Given the description of an element on the screen output the (x, y) to click on. 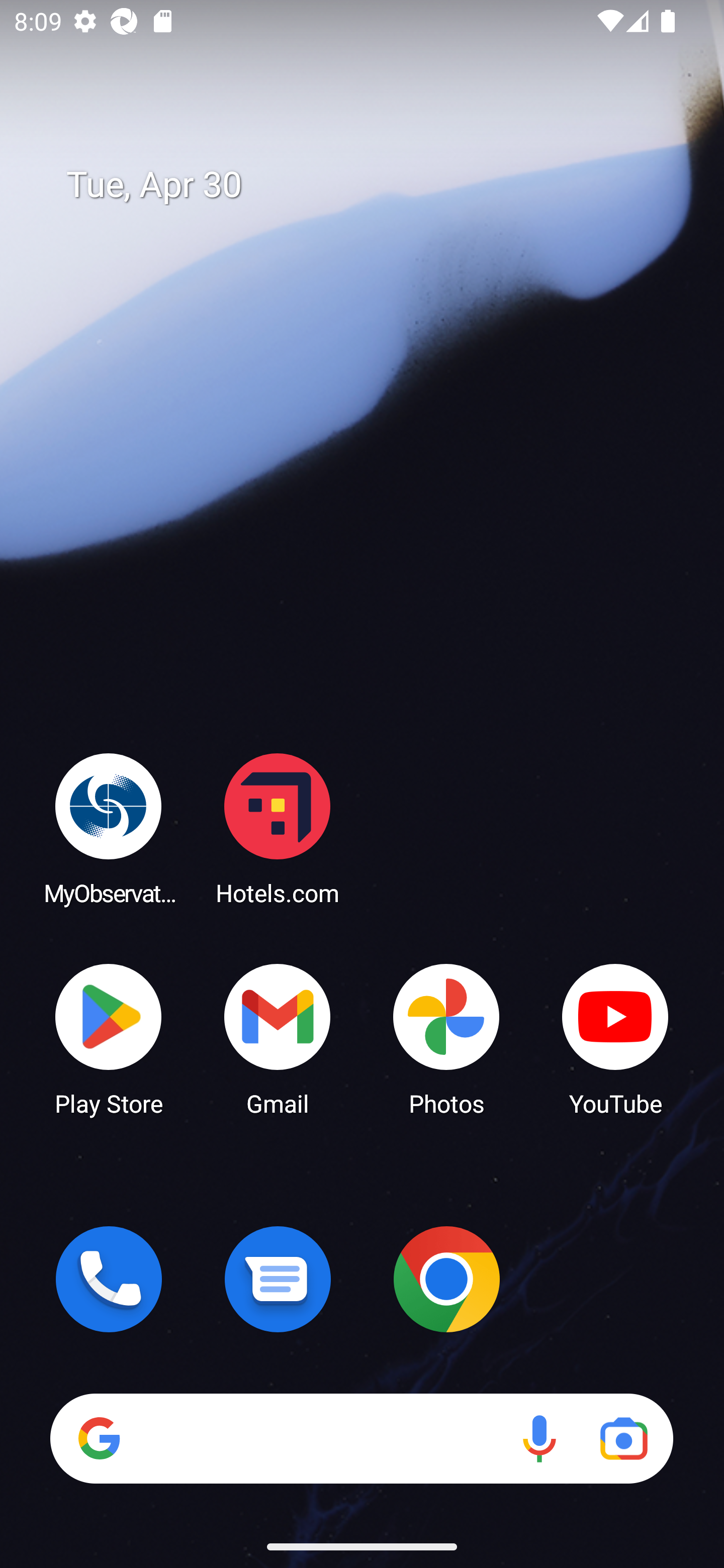
Tue, Apr 30 (375, 184)
MyObservatory (108, 828)
Hotels.com (277, 828)
Play Store (108, 1038)
Gmail (277, 1038)
Photos (445, 1038)
YouTube (615, 1038)
Phone (108, 1279)
Messages (277, 1279)
Chrome (446, 1279)
Voice search (539, 1438)
Google Lens (623, 1438)
